Given the description of an element on the screen output the (x, y) to click on. 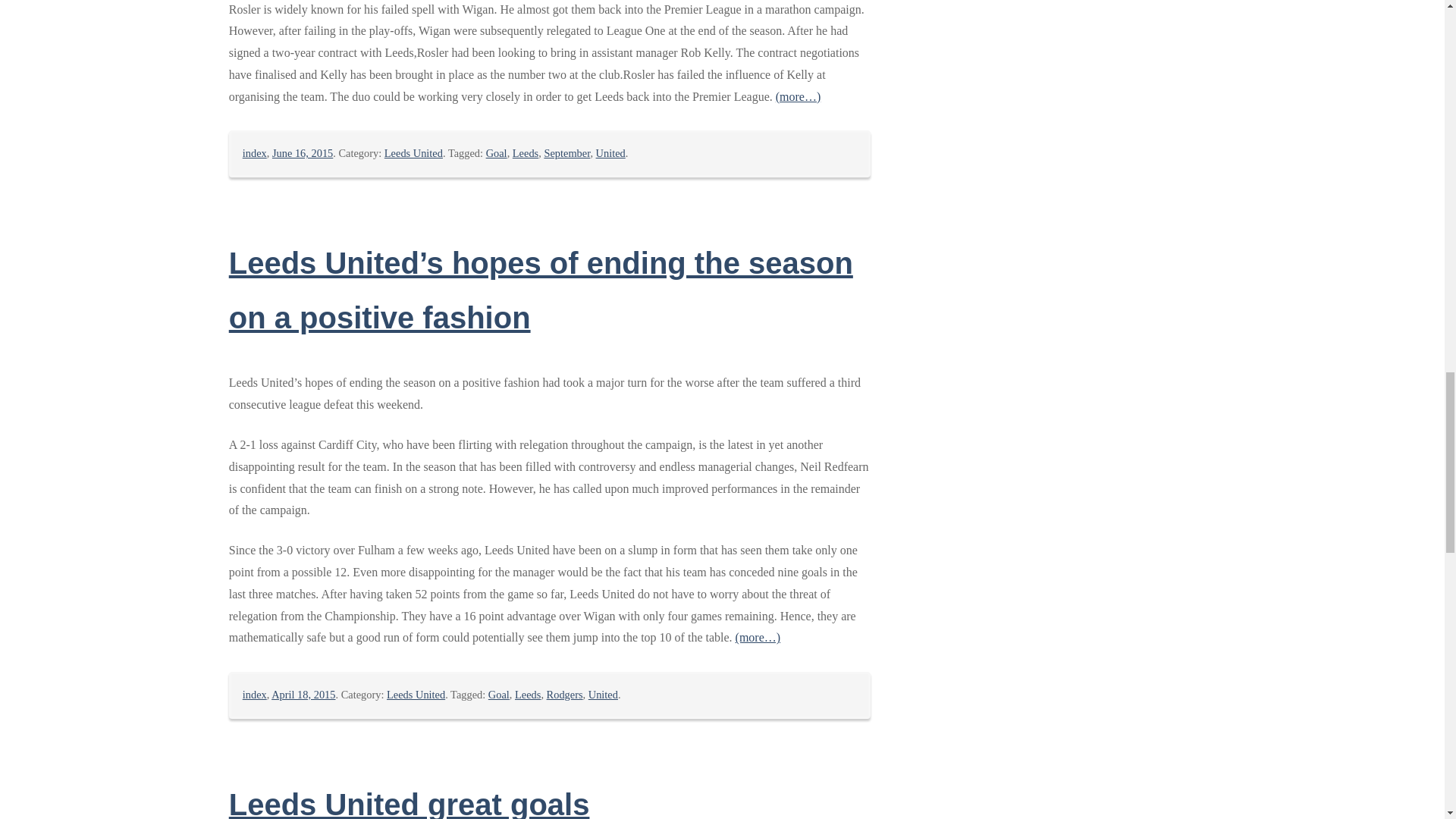
United (602, 694)
Leeds (525, 152)
United (610, 152)
index (254, 694)
Goal (496, 152)
Rodgers (565, 694)
Leeds United (413, 152)
June 16, 2015 (302, 152)
September (566, 152)
View all posts by index (254, 694)
Goal (498, 694)
Leeds (527, 694)
April 18, 2015 (302, 694)
index (254, 152)
Leeds United (416, 694)
